Given the description of an element on the screen output the (x, y) to click on. 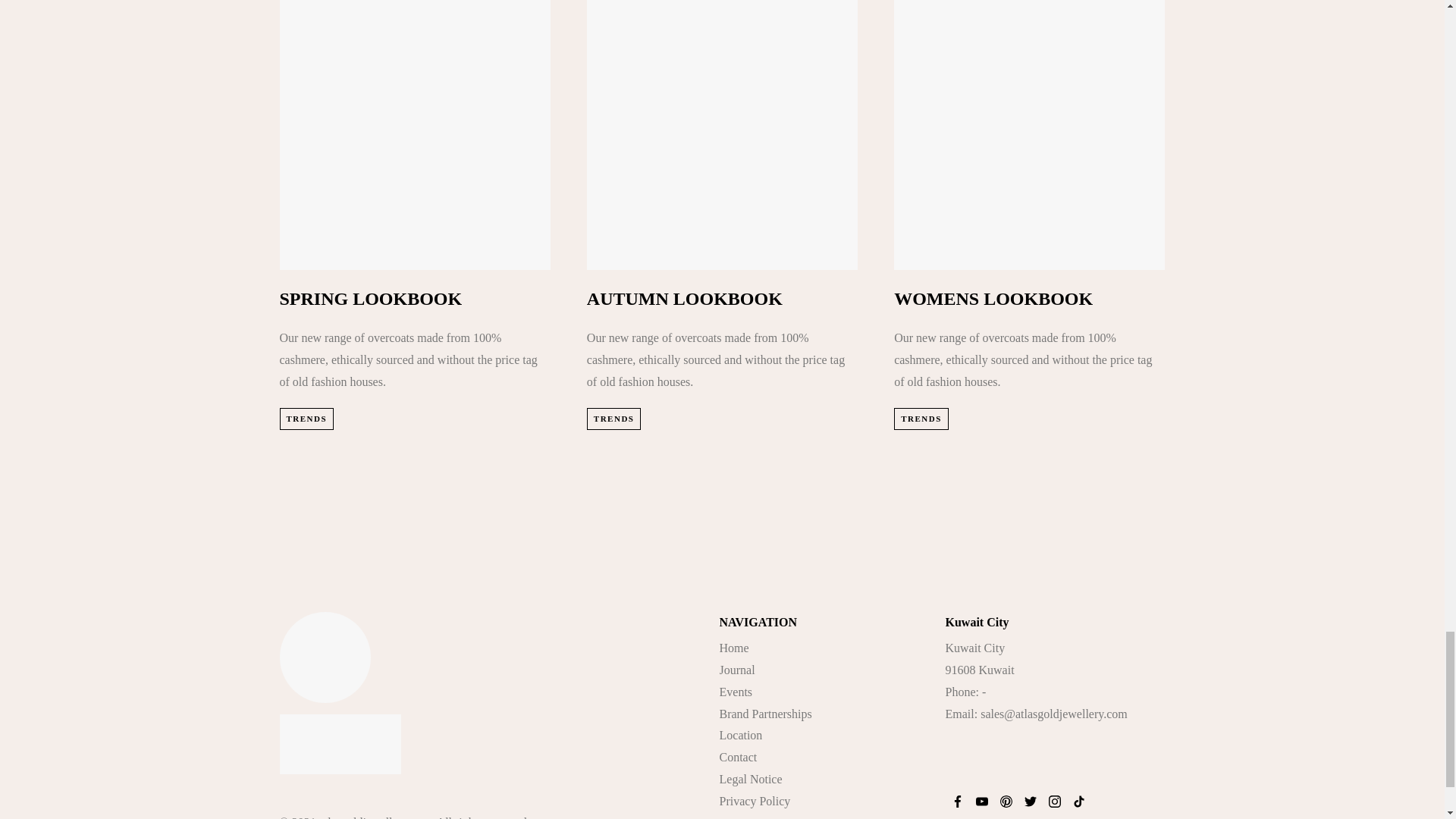
Journal (736, 669)
AUTUMN LOOKBOOK (684, 298)
TRENDS (306, 418)
TRENDS (921, 418)
Home (733, 647)
WOMENS LOOKBOOK (993, 298)
SPRING LOOKBOOK (370, 298)
TRENDS (614, 418)
